Given the description of an element on the screen output the (x, y) to click on. 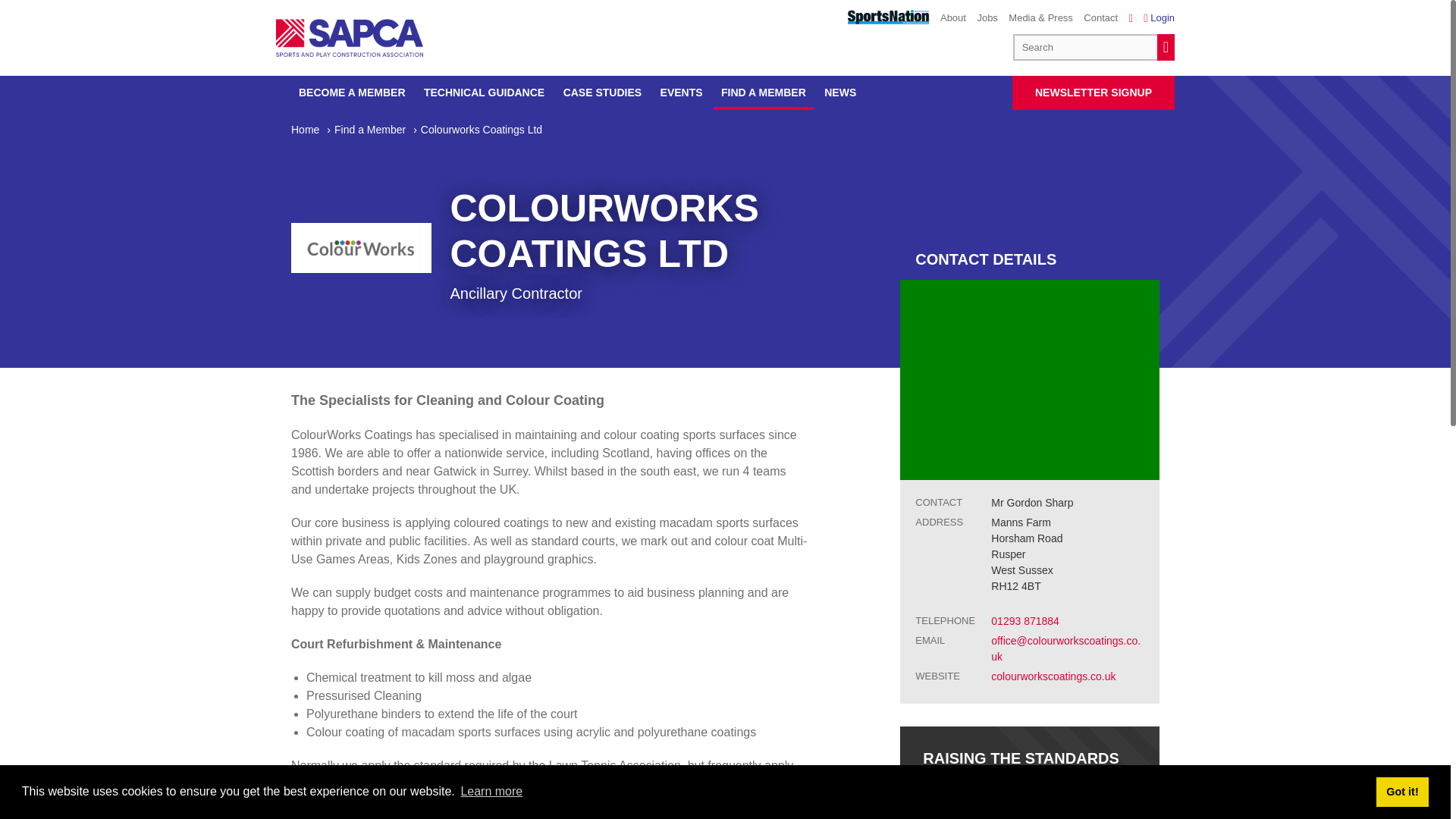
Jobs (986, 17)
EVENTS (681, 92)
Login (1158, 17)
Contact (1100, 17)
About (953, 17)
SportsNation (887, 16)
Home (312, 130)
CASE STUDIES (602, 92)
NEWSLETTER SIGNUP (1092, 92)
Got it! (1401, 791)
BECOME A MEMBER (352, 92)
Learn more (491, 791)
FIND A MEMBER (763, 92)
TECHNICAL GUIDANCE (483, 92)
NEWS (839, 92)
